Given the description of an element on the screen output the (x, y) to click on. 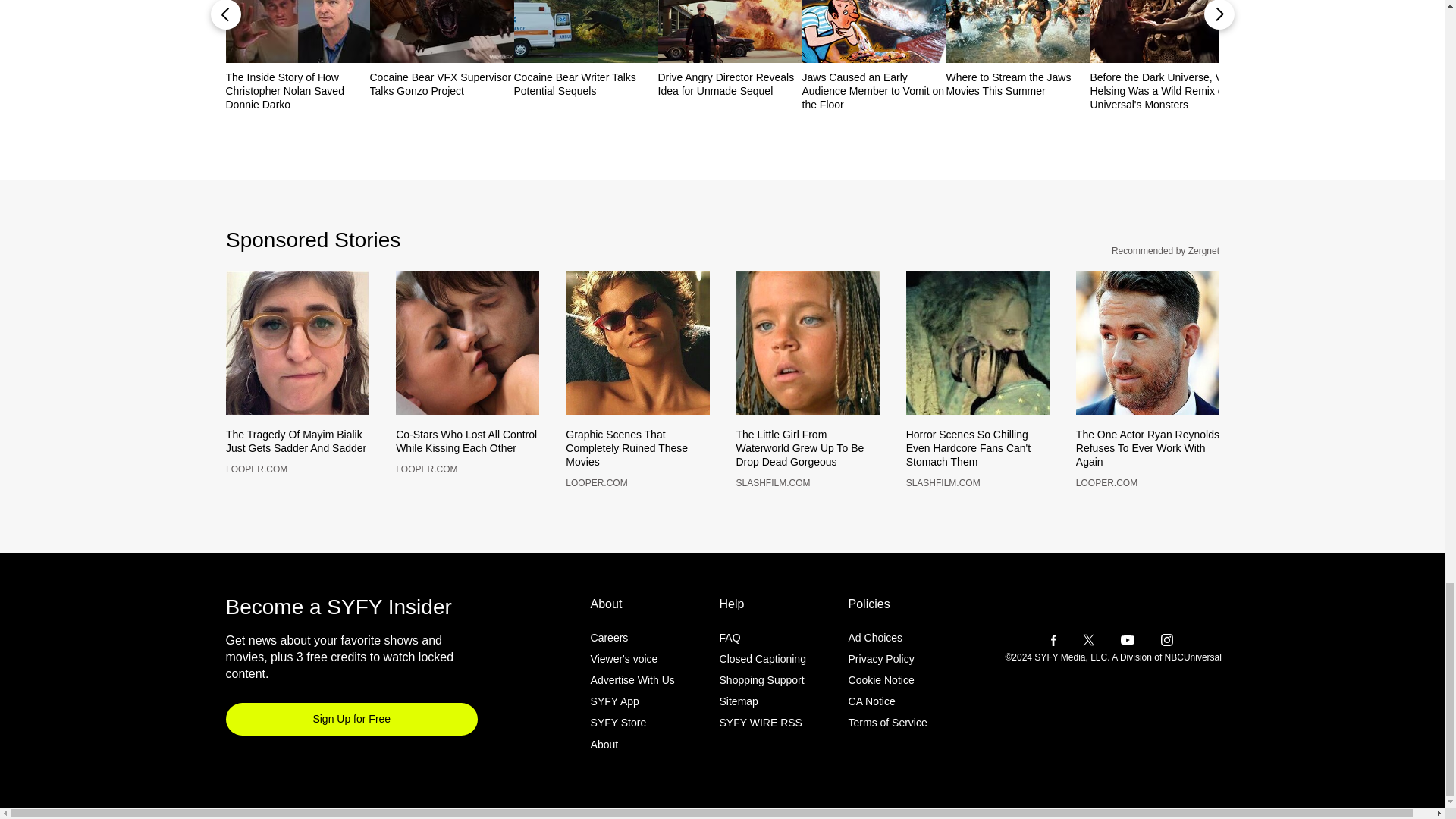
Advertise With Us (633, 705)
